Given the description of an element on the screen output the (x, y) to click on. 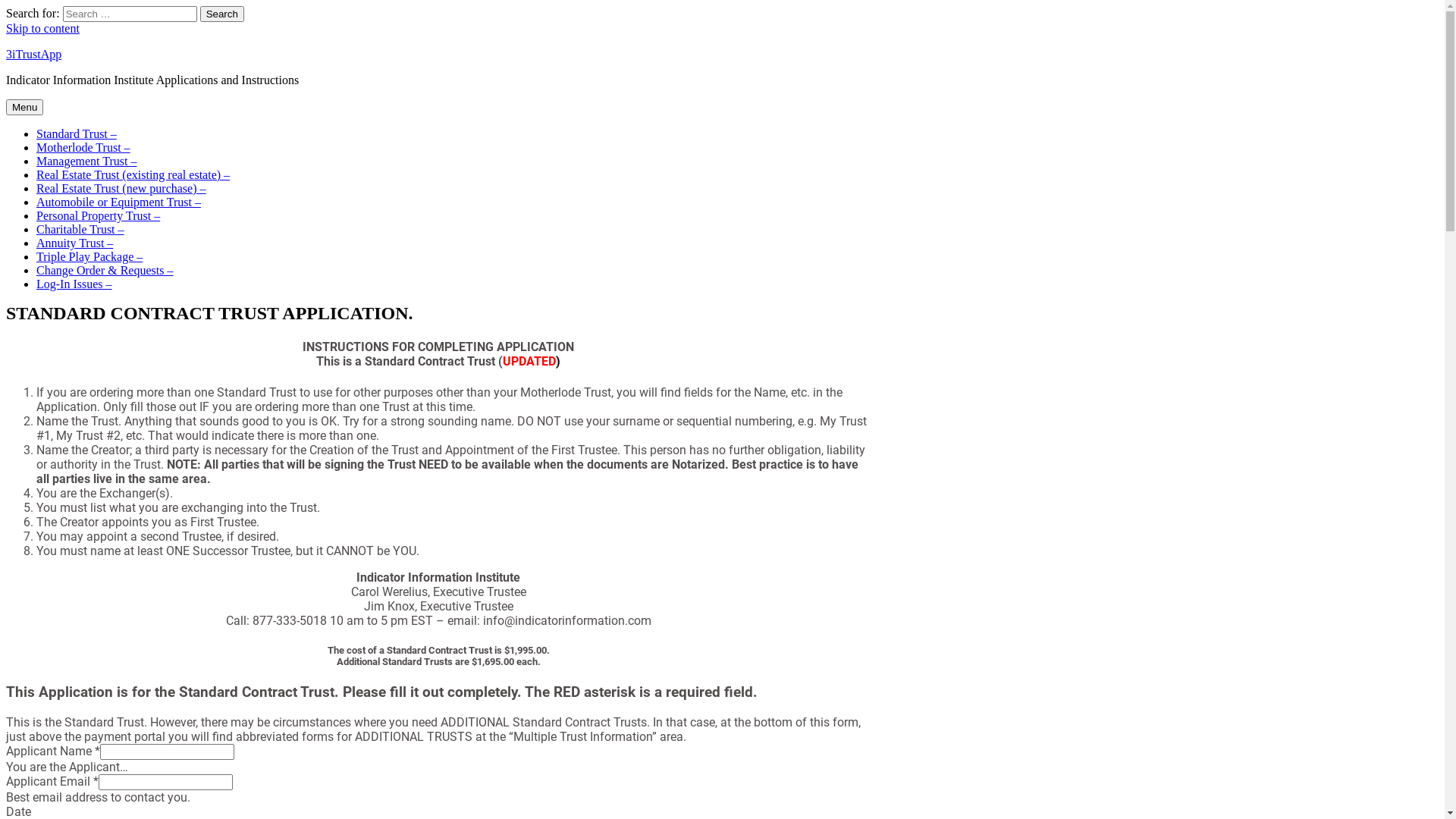
Search Element type: text (222, 13)
3iTrustApp Element type: text (33, 53)
Menu Element type: text (24, 107)
Skip to content Element type: text (42, 27)
